Given the description of an element on the screen output the (x, y) to click on. 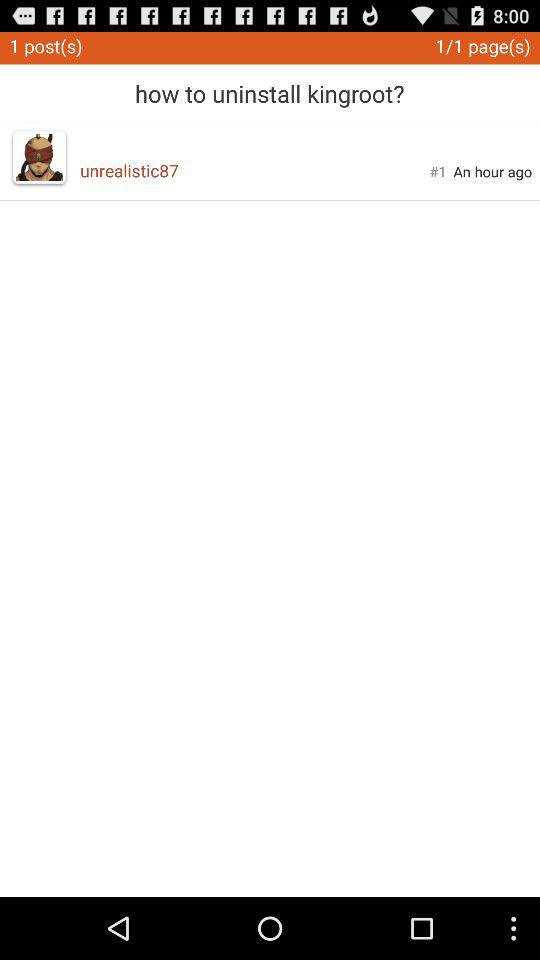
click the unrealistic87 icon (254, 170)
